Given the description of an element on the screen output the (x, y) to click on. 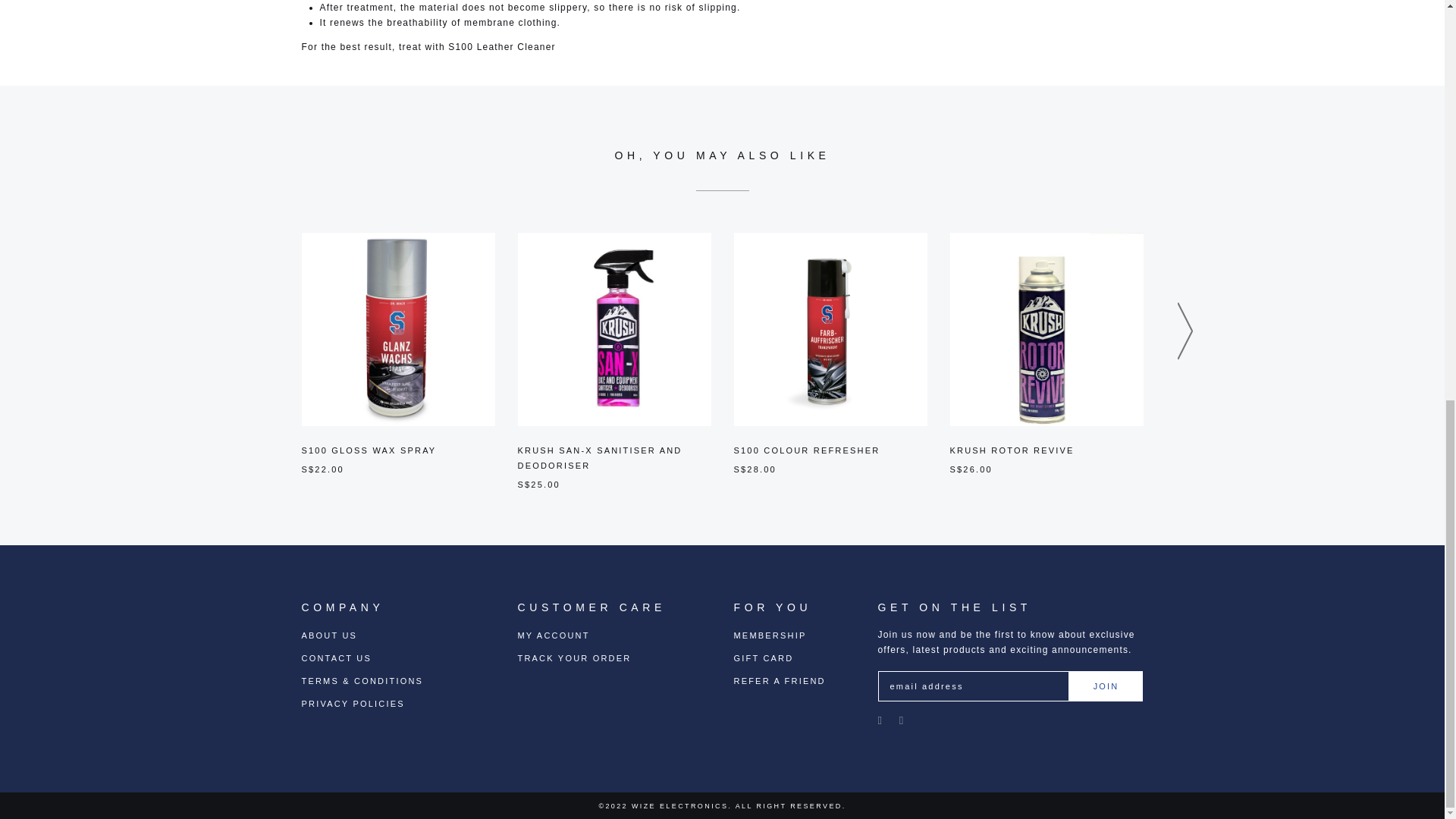
Join (1105, 685)
